Given the description of an element on the screen output the (x, y) to click on. 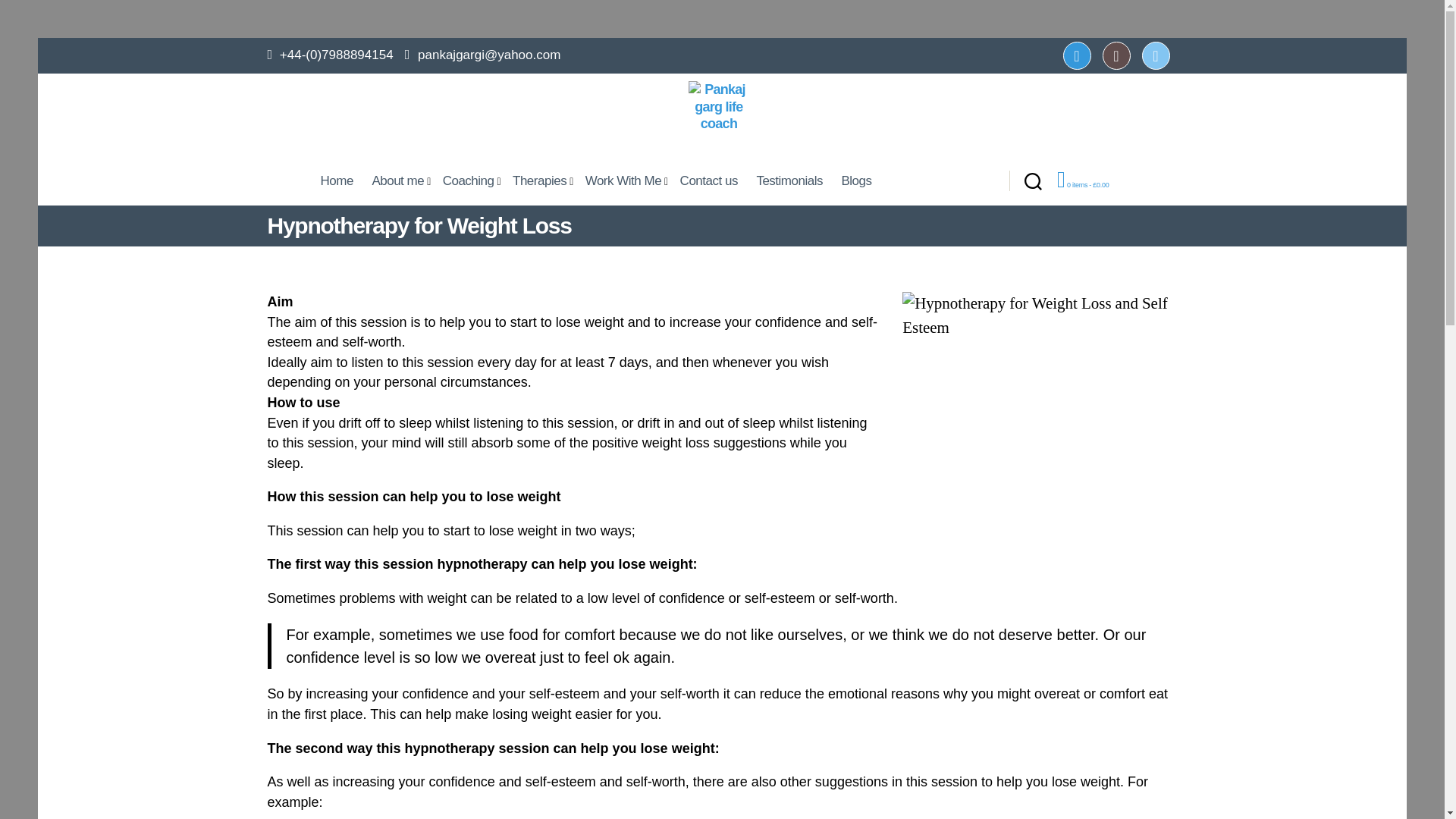
Blogs (855, 181)
Work With Me (623, 181)
Testimonials (788, 181)
Therapies (539, 181)
About me (397, 181)
Coaching (468, 181)
Contact us (708, 181)
Hypnotherapy for Weight Loss and Self Esteem (1039, 368)
Cart View (1082, 184)
Home (336, 181)
